Given the description of an element on the screen output the (x, y) to click on. 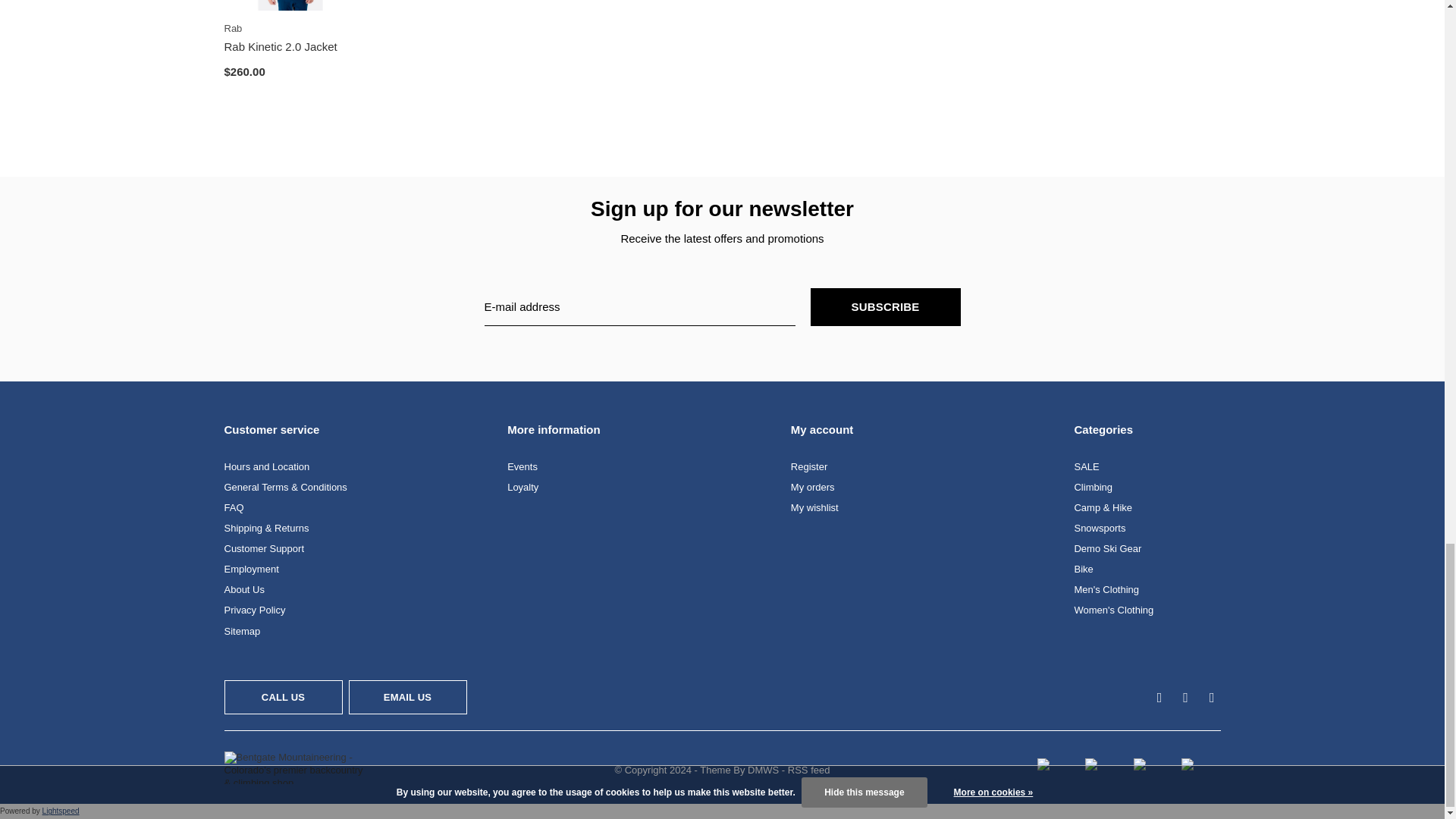
Lightspeed (61, 810)
My wishlist (814, 507)
Register (808, 466)
My orders (812, 487)
